Given the description of an element on the screen output the (x, y) to click on. 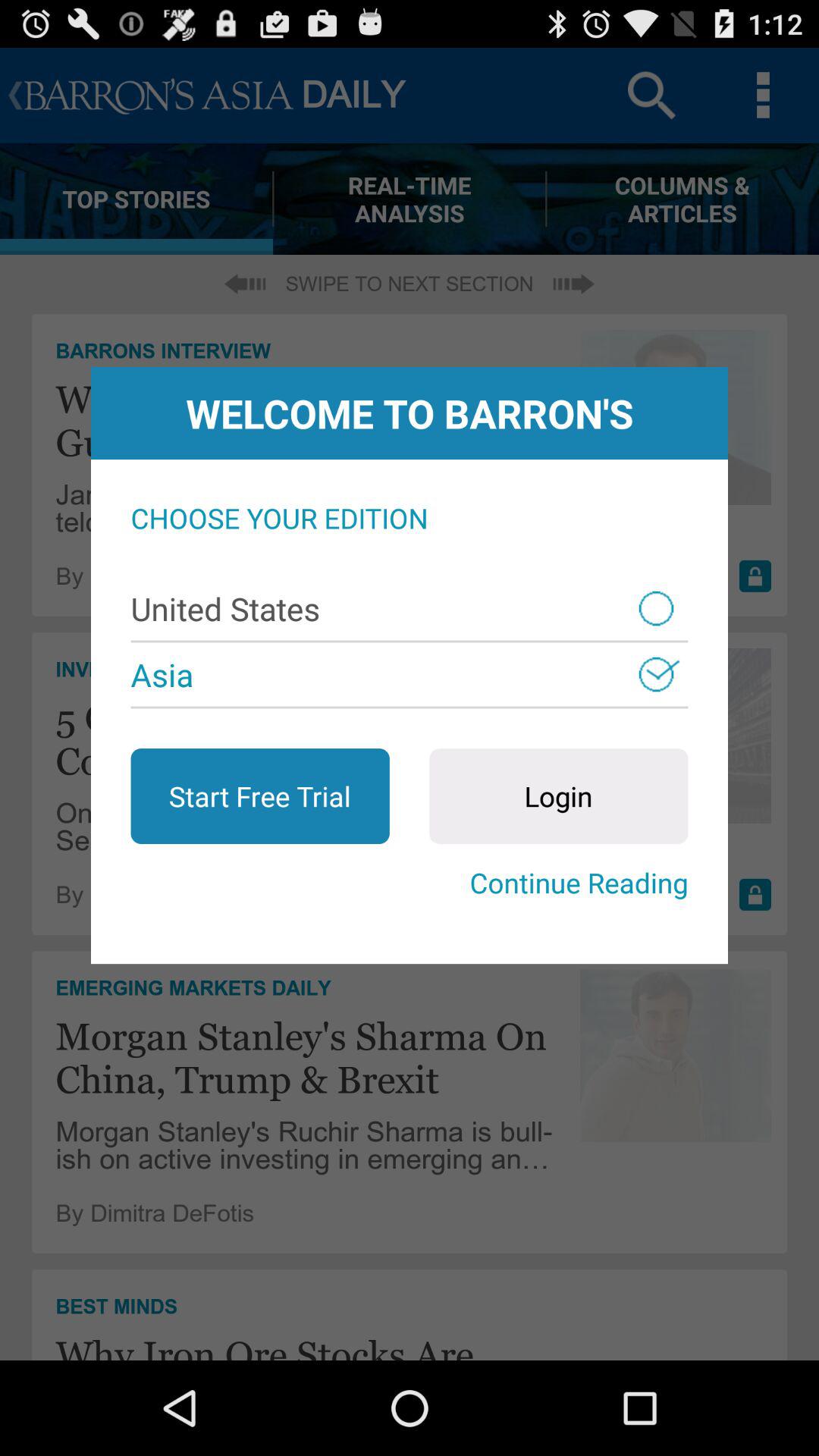
open icon to the right of the start free trial button (558, 796)
